Given the description of an element on the screen output the (x, y) to click on. 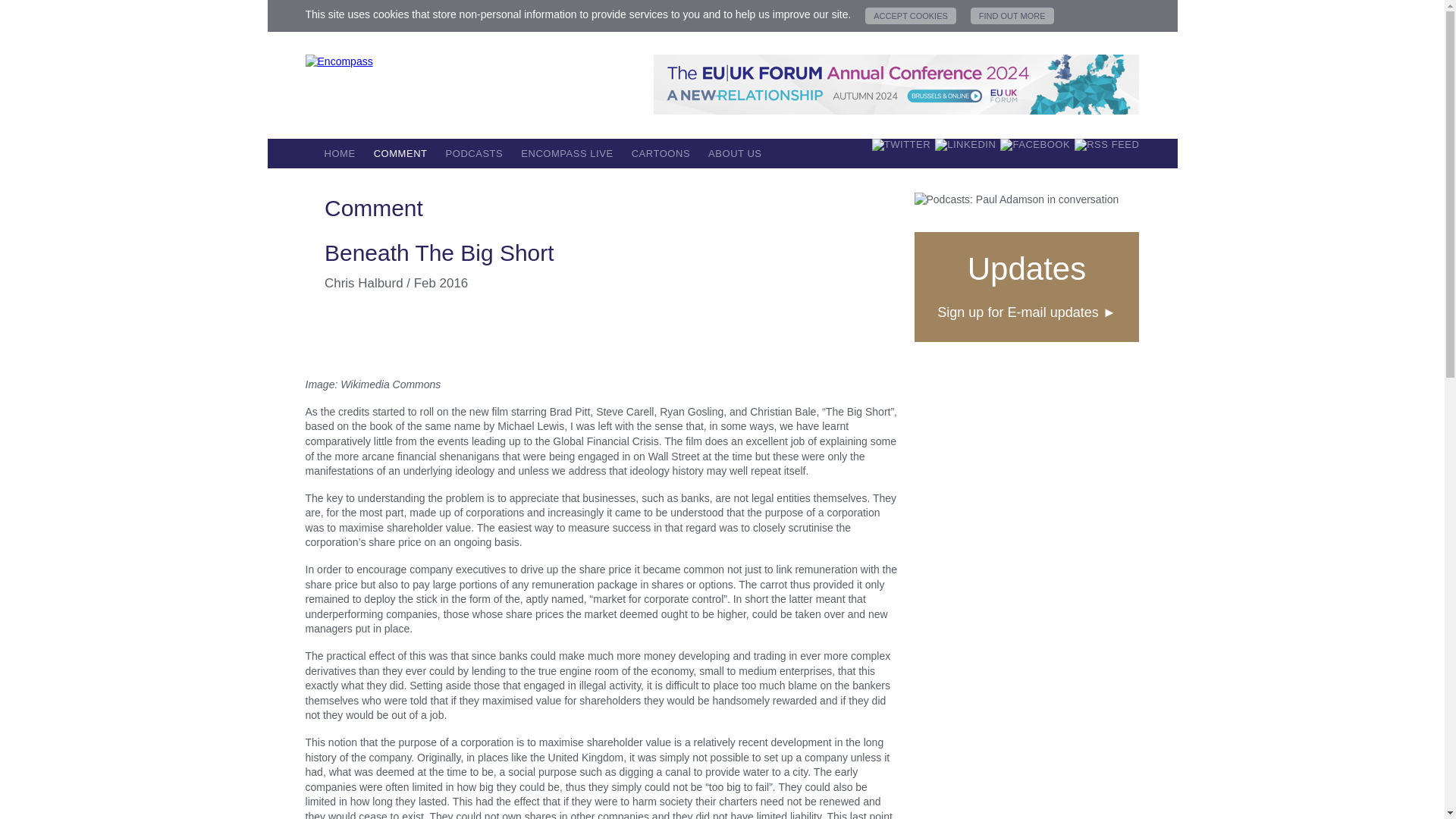
CARTOONS (660, 153)
PODCASTS (474, 153)
Find out more (1012, 15)
HOME (340, 153)
ENCOMPASS LIVE (566, 153)
COMMENT (400, 153)
Accept cookies (910, 15)
ABOUT US (734, 153)
